Given the description of an element on the screen output the (x, y) to click on. 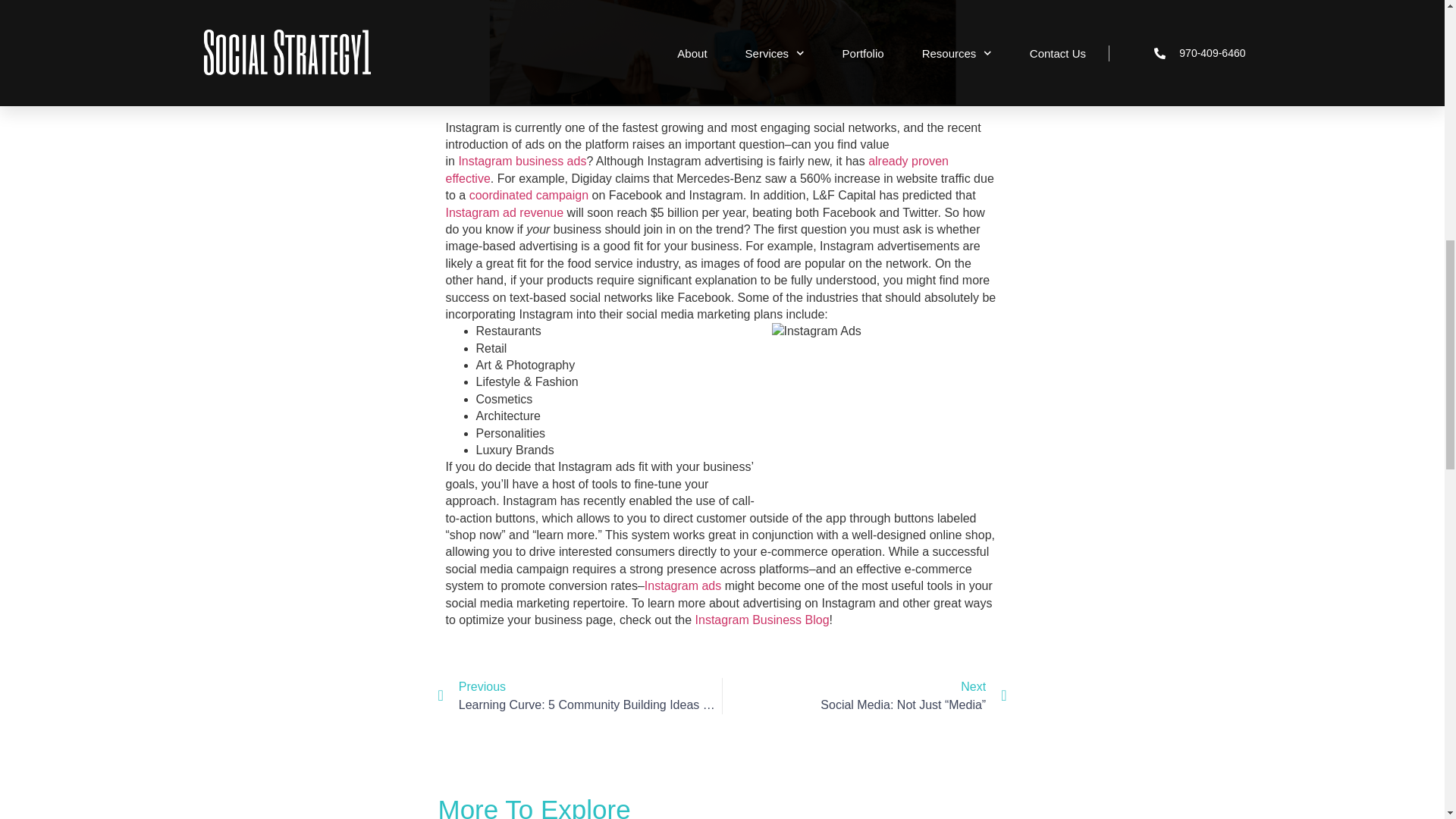
Instagram Mobile Ad Revenue Will Exceed Google's (504, 212)
Instagram Ads Are a Hit Among Brands (528, 195)
Instagram Business Blog (762, 619)
